Given the description of an element on the screen output the (x, y) to click on. 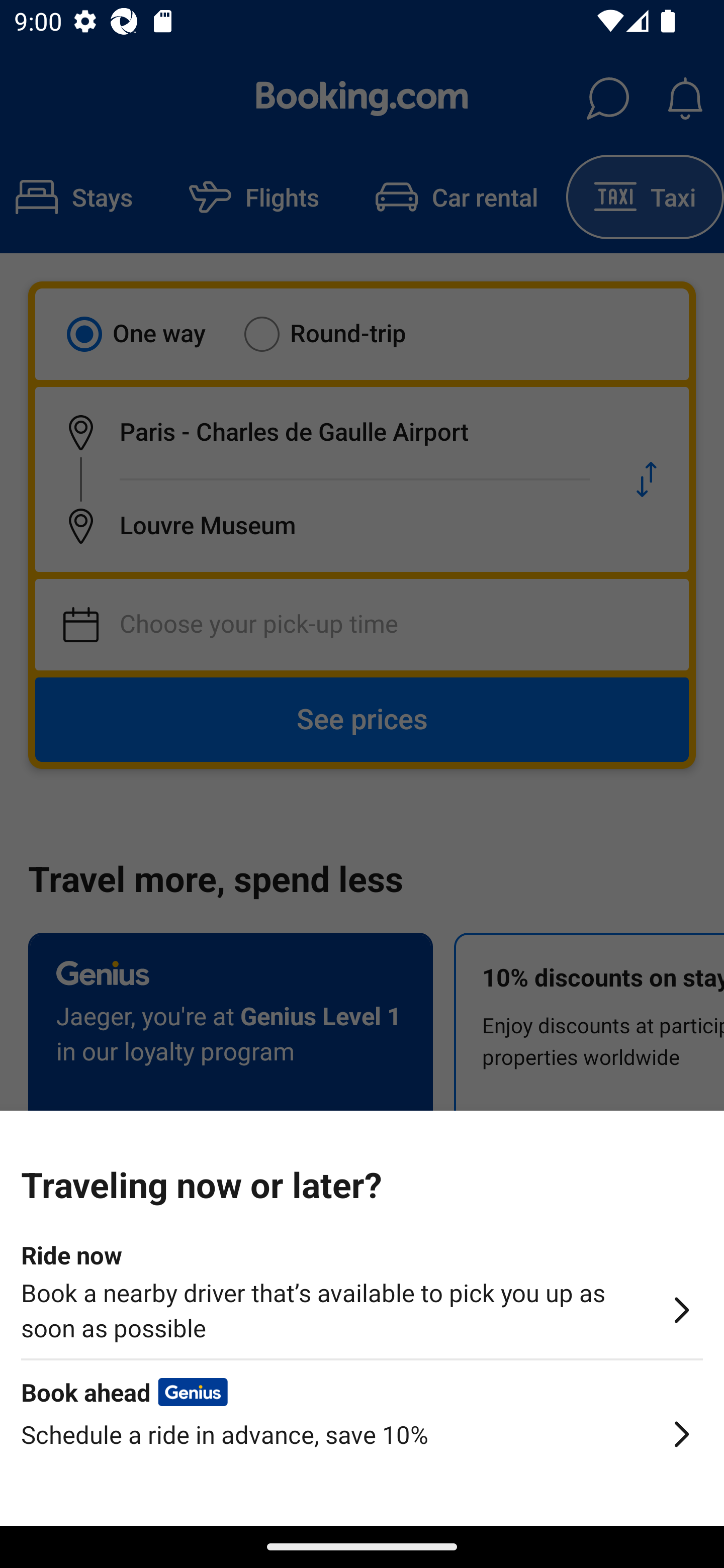
Book ahead Schedule a ride in advance, save 10% (361, 1450)
